Given the description of an element on the screen output the (x, y) to click on. 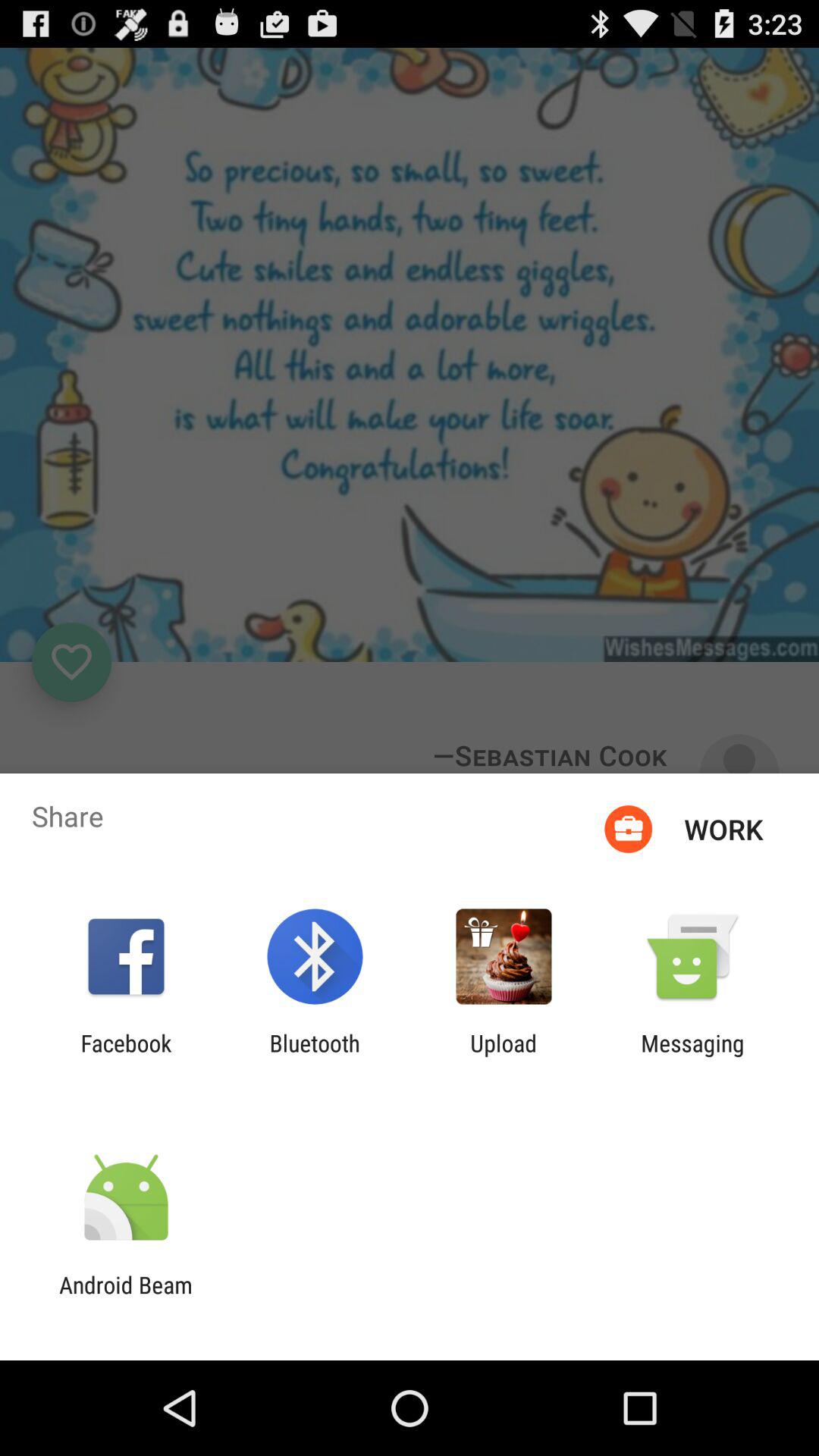
choose icon to the right of the bluetooth app (503, 1056)
